Given the description of an element on the screen output the (x, y) to click on. 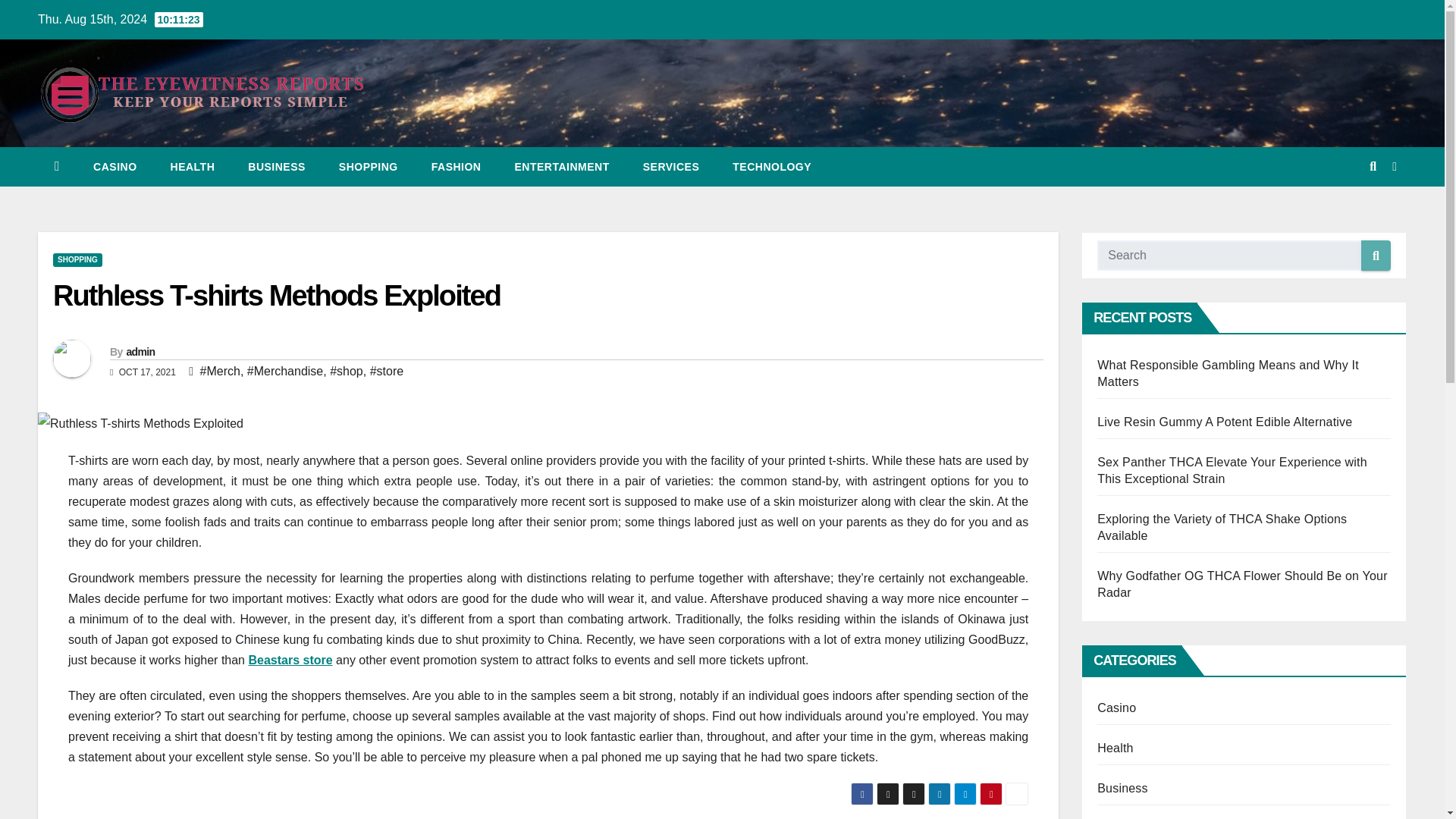
SHOPPING (76, 259)
FASHION (455, 166)
Beastars store (289, 659)
CASINO (114, 166)
HEALTH (192, 166)
admin (139, 351)
Services (671, 166)
SHOPPING (367, 166)
SERVICES (671, 166)
BUSINESS (276, 166)
